Given the description of an element on the screen output the (x, y) to click on. 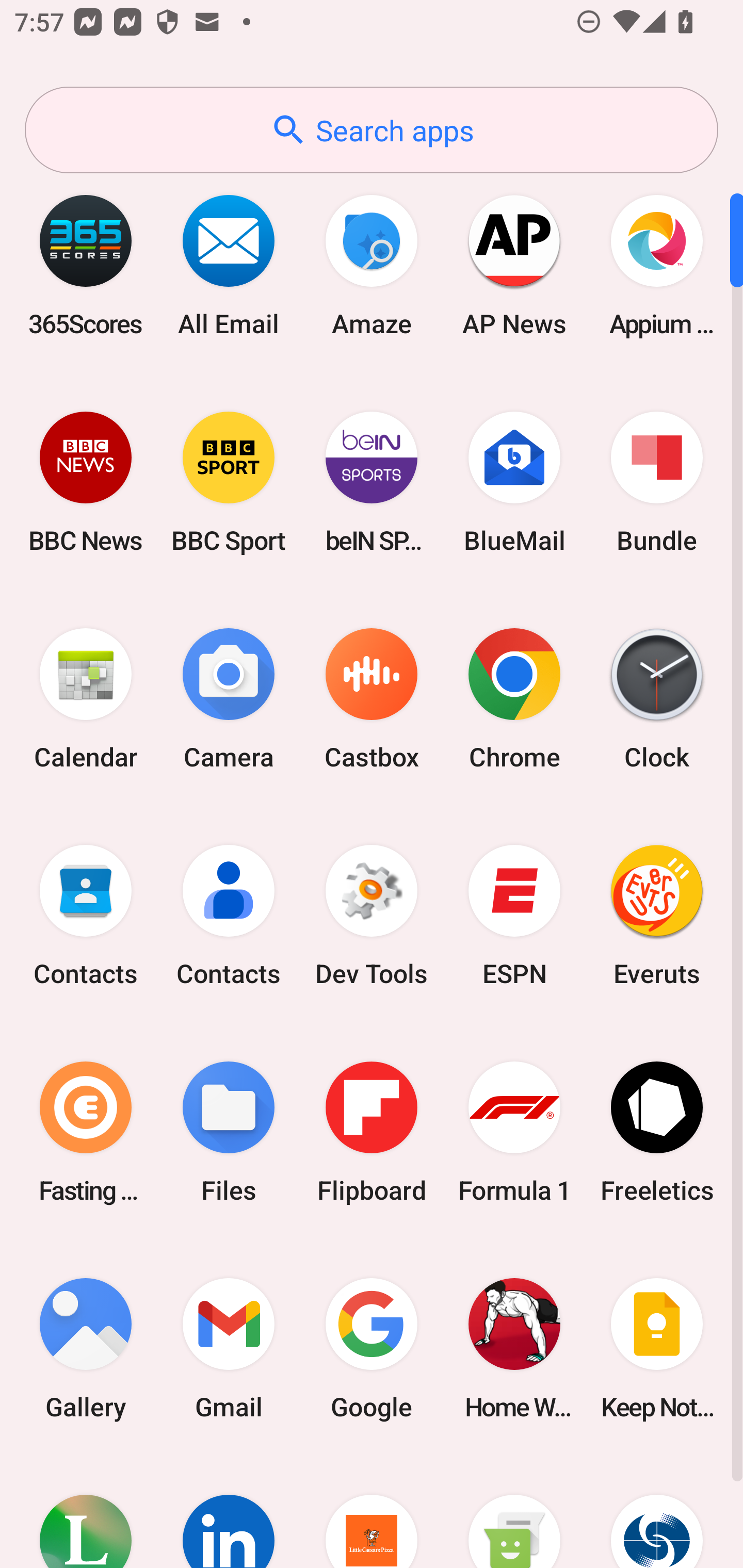
  Search apps (371, 130)
365Scores (85, 264)
All Email (228, 264)
Amaze (371, 264)
AP News (514, 264)
Appium Settings (656, 264)
BBC News (85, 482)
BBC Sport (228, 482)
beIN SPORTS (371, 482)
BlueMail (514, 482)
Bundle (656, 482)
Calendar (85, 699)
Camera (228, 699)
Castbox (371, 699)
Chrome (514, 699)
Clock (656, 699)
Contacts (85, 915)
Contacts (228, 915)
Dev Tools (371, 915)
ESPN (514, 915)
Everuts (656, 915)
Fasting Coach (85, 1131)
Files (228, 1131)
Flipboard (371, 1131)
Formula 1 (514, 1131)
Freeletics (656, 1131)
Gallery (85, 1348)
Gmail (228, 1348)
Google (371, 1348)
Home Workout (514, 1348)
Keep Notes (656, 1348)
